Given the description of an element on the screen output the (x, y) to click on. 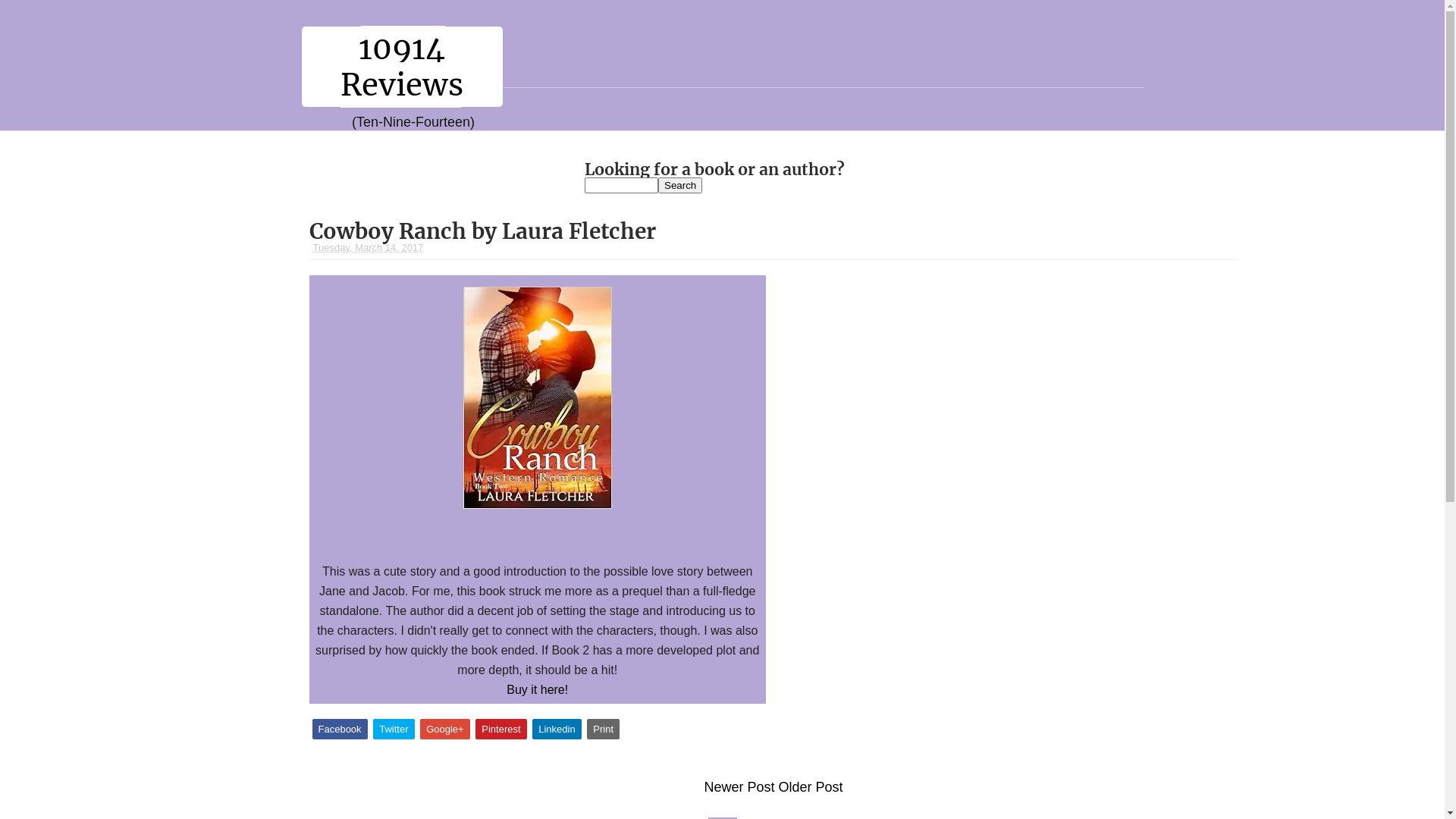
search Element type: hover (680, 185)
Twitter Element type: text (393, 728)
Buy it here! Element type: text (536, 689)
Facebook Element type: text (339, 728)
search Element type: hover (621, 185)
Pinterest Element type: text (500, 728)
Search Element type: text (680, 185)
Google+ Element type: text (445, 728)
Linkedin Element type: text (556, 728)
10914 Reviews Element type: text (401, 66)
Tuesday, March 14, 2017 Element type: text (367, 247)
Older Post Element type: text (810, 786)
Newer Post Element type: text (738, 786)
Print Element type: text (602, 728)
